Given the description of an element on the screen output the (x, y) to click on. 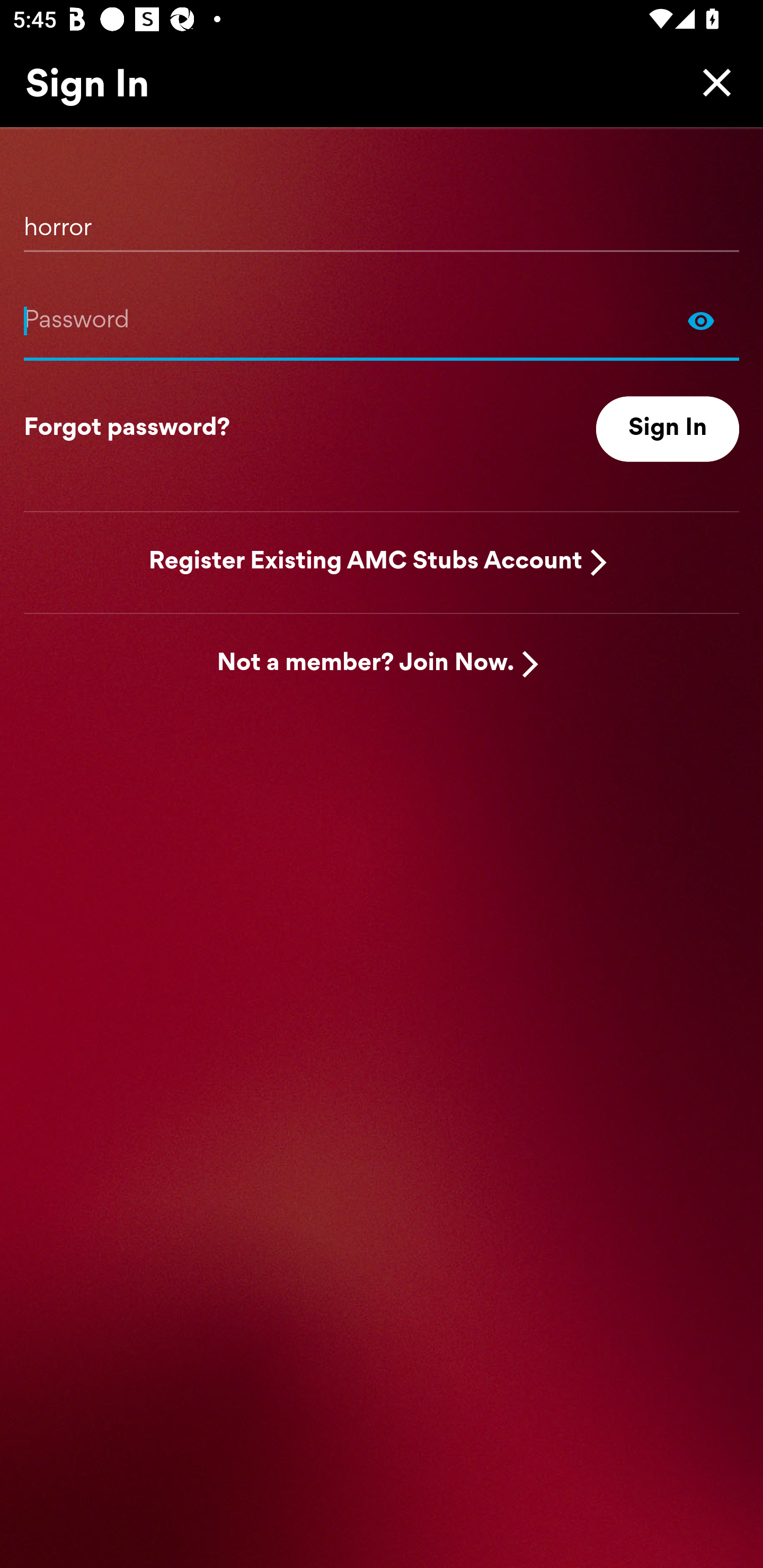
Close (712, 82)
horror (381, 220)
Show Password (381, 320)
Show Password (701, 320)
Forgot password? (126, 428)
Sign In (667, 428)
Register Existing AMC Stubs Account (365, 561)
Not a member? Join Now. (365, 663)
